Given the description of an element on the screen output the (x, y) to click on. 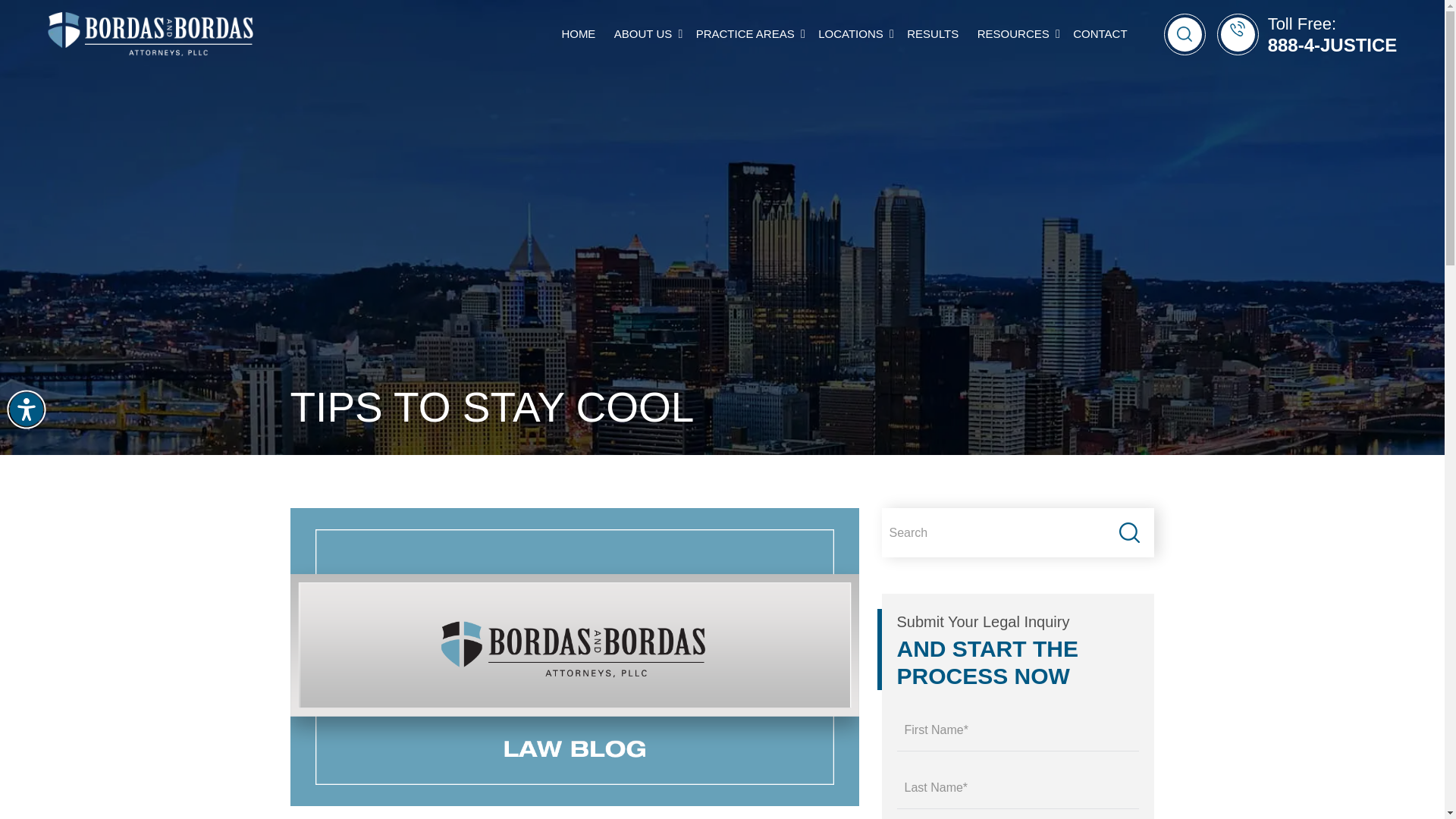
RESULTS (932, 34)
PRACTICE AREAS (744, 34)
Accessibility Menu (26, 409)
HOME (577, 34)
ABOUT US (642, 34)
LOCATIONS (850, 34)
RESOURCES (1012, 34)
PRACTICE AREAS (748, 33)
